Given the description of an element on the screen output the (x, y) to click on. 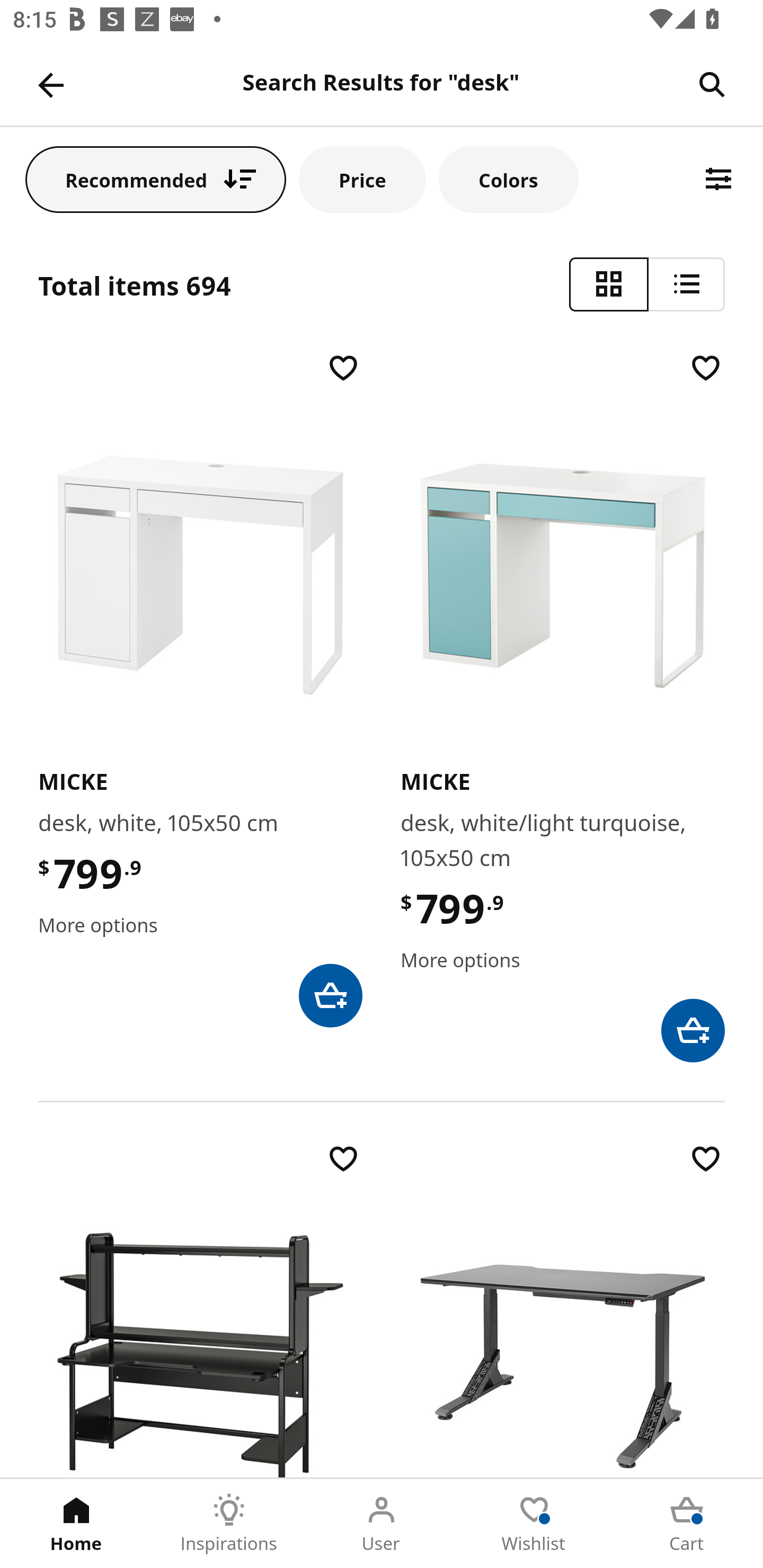
Recommended (155, 179)
Price (362, 179)
Colors (508, 179)
Home
Tab 1 of 5 (76, 1522)
Inspirations
Tab 2 of 5 (228, 1522)
User
Tab 3 of 5 (381, 1522)
Wishlist
Tab 4 of 5 (533, 1522)
Cart
Tab 5 of 5 (686, 1522)
